Given the description of an element on the screen output the (x, y) to click on. 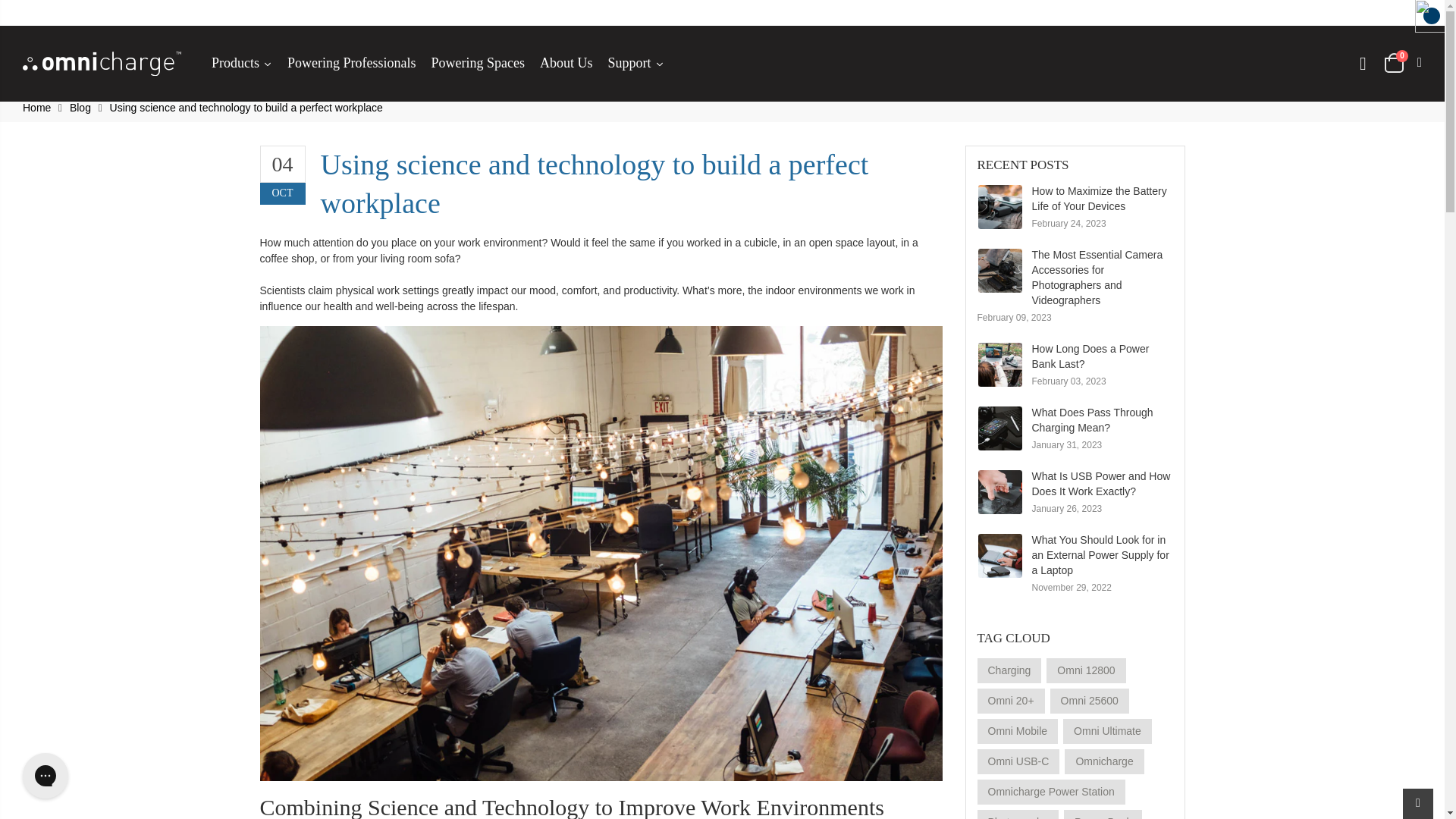
Accessibility Menu (1431, 15)
About Us (565, 63)
Powering Spaces (477, 63)
Products (241, 63)
Powering Professionals (351, 63)
Products (241, 63)
